Given the description of an element on the screen output the (x, y) to click on. 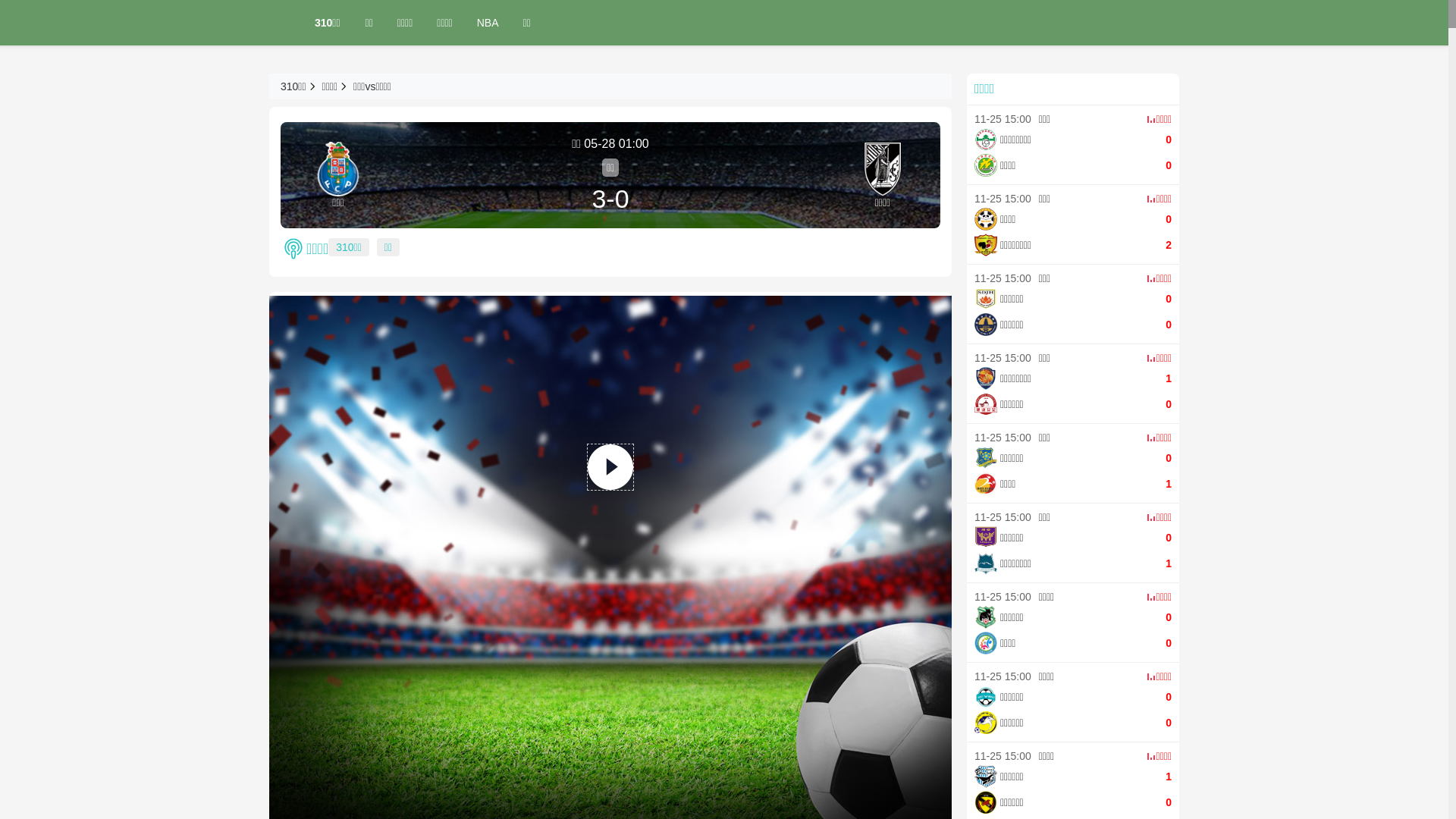
NBA Element type: text (487, 22)
